Given the description of an element on the screen output the (x, y) to click on. 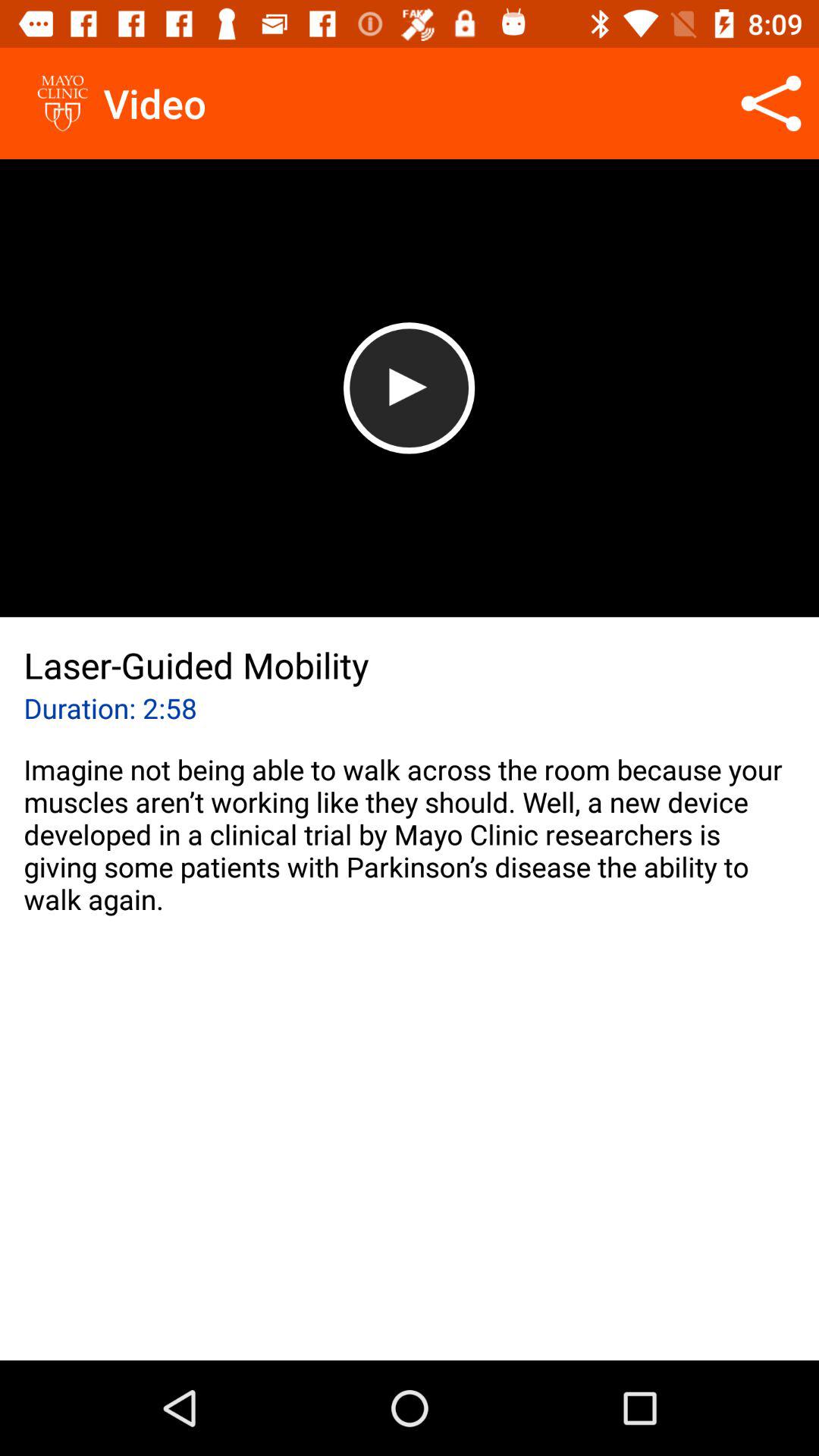
press the item at the top right corner (771, 103)
